Given the description of an element on the screen output the (x, y) to click on. 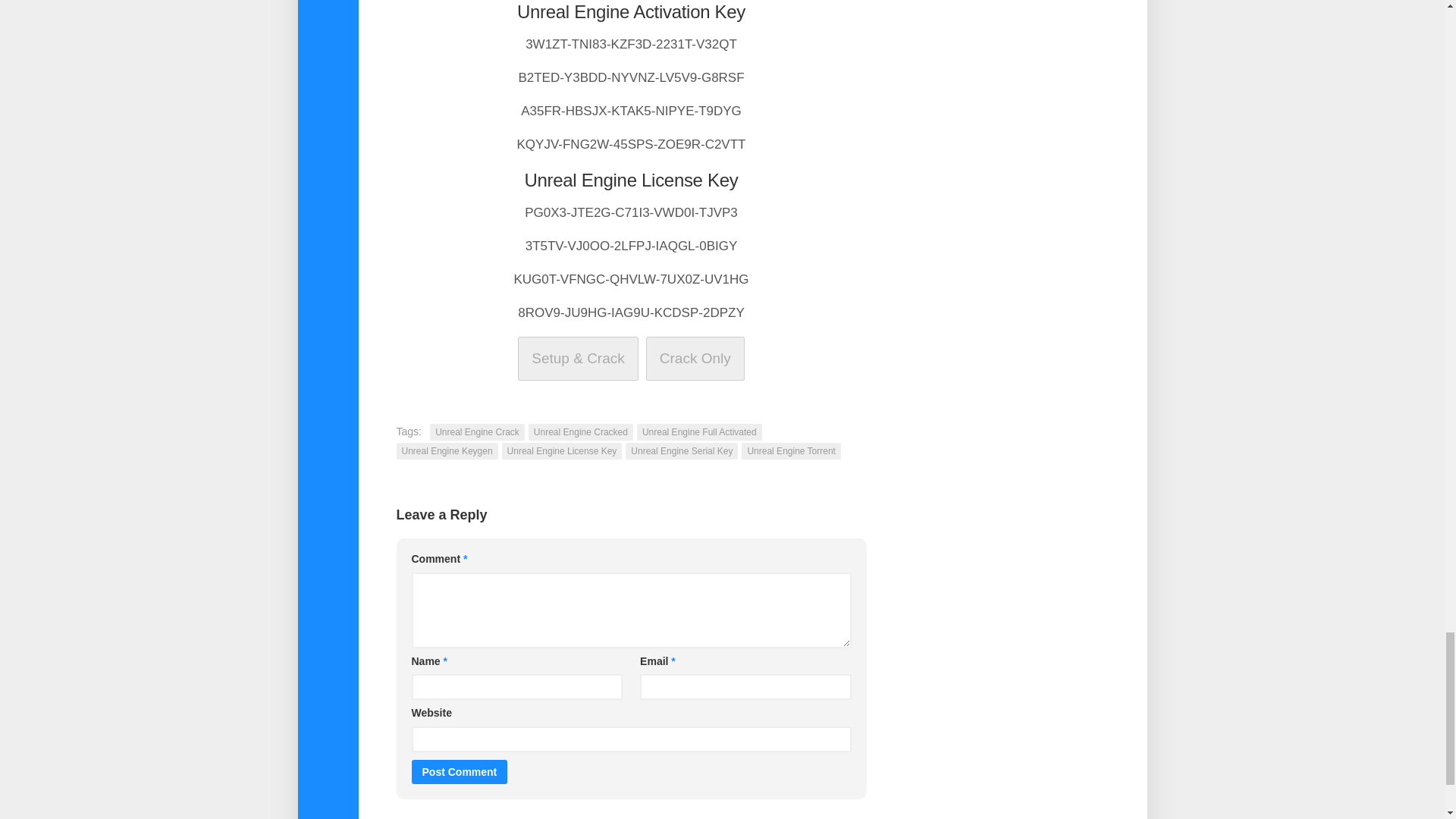
Unreal Engine Crack (476, 432)
Unreal Engine Serial Key (682, 450)
Unreal Engine Full Activated (699, 432)
Crack Only (695, 357)
Unreal Engine License Key (562, 450)
Post Comment (458, 770)
Unreal Engine Cracked (580, 432)
Unreal Engine Torrent (791, 450)
Unreal Engine Keygen (446, 450)
Post Comment (458, 770)
